Given the description of an element on the screen output the (x, y) to click on. 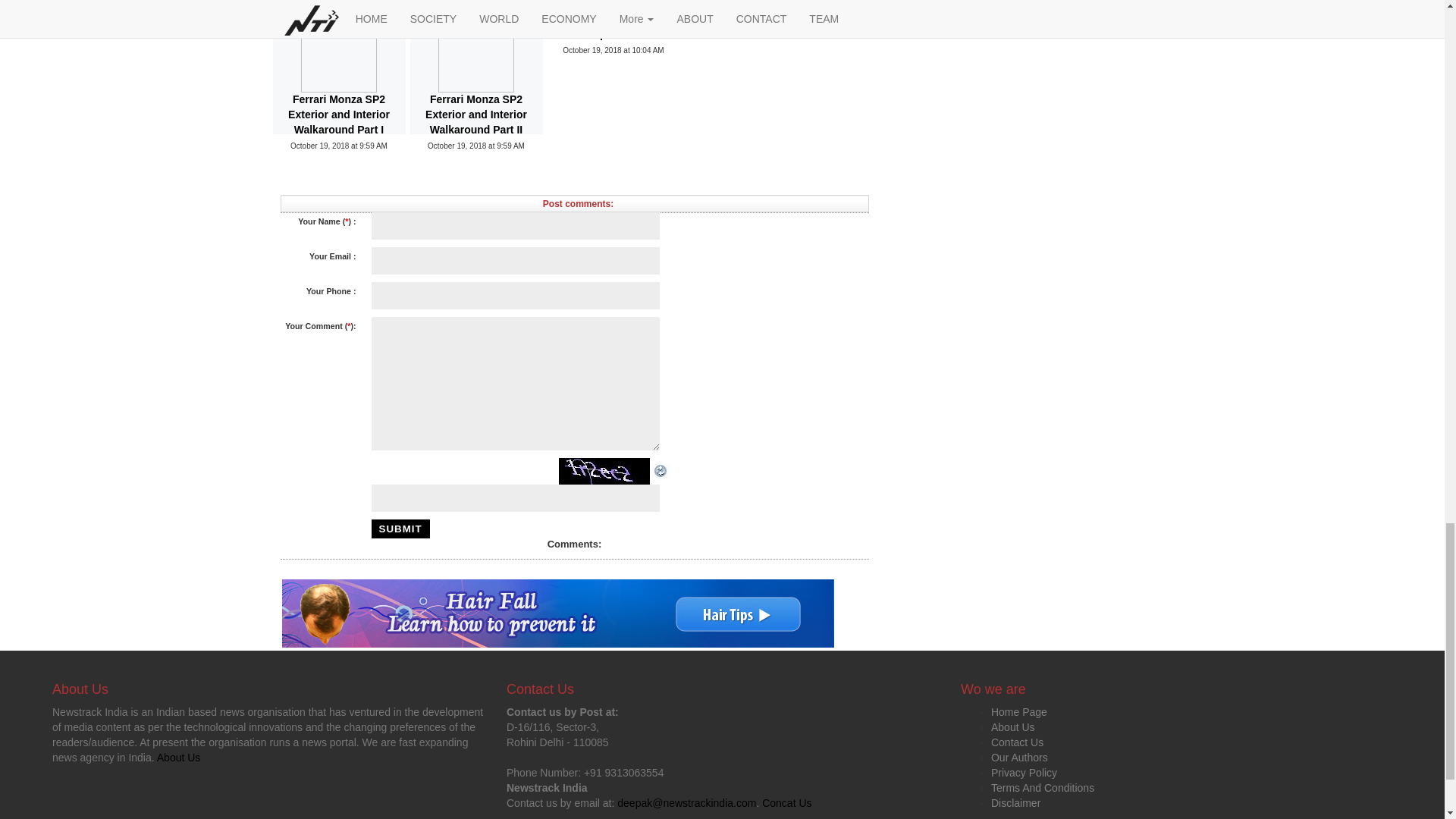
Advertisement (446, 178)
submit (400, 528)
Refresh Image (660, 469)
